Given the description of an element on the screen output the (x, y) to click on. 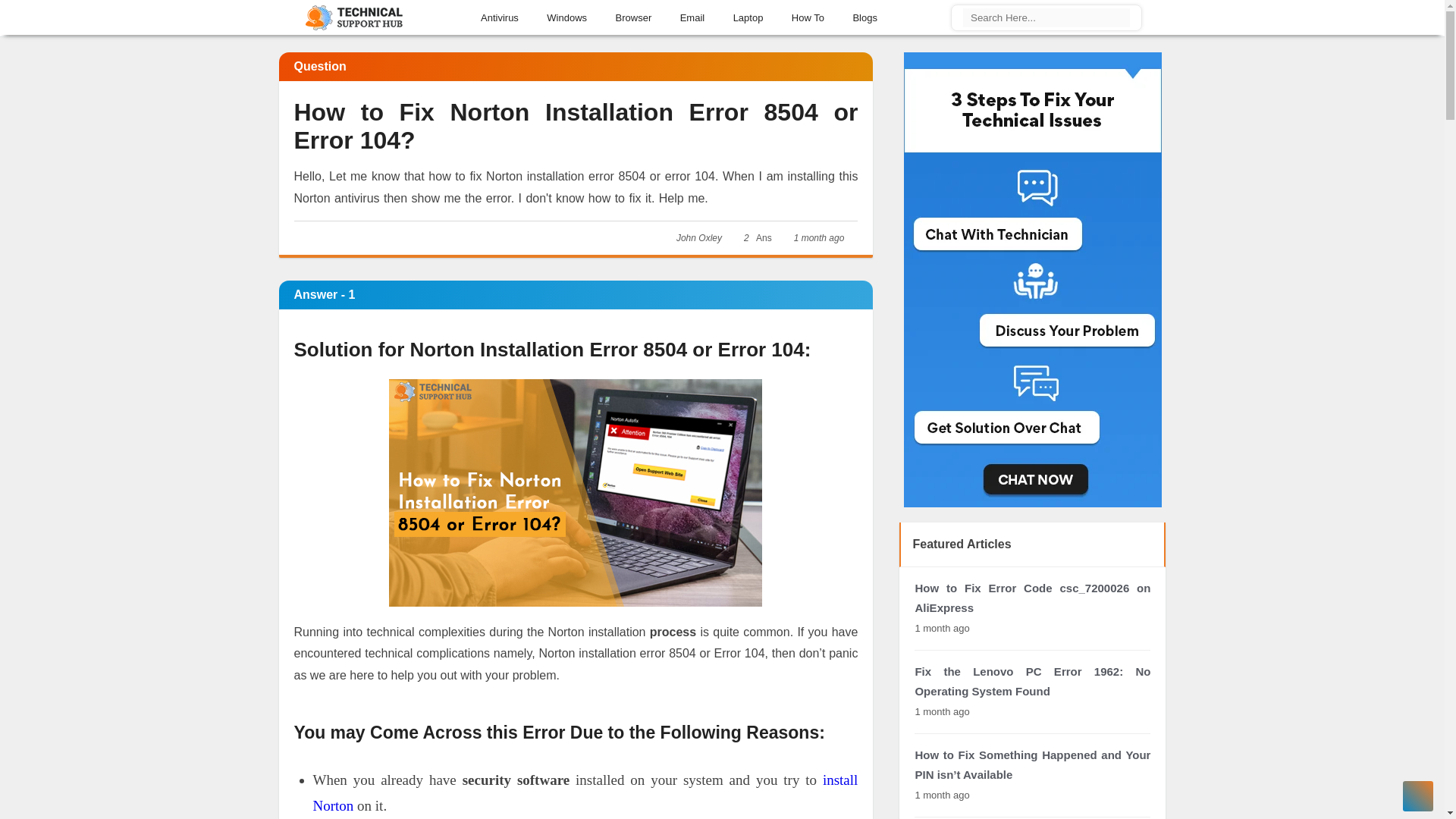
Antivirus (500, 15)
Browser (634, 15)
install Norton (585, 793)
How To (808, 15)
Laptop (749, 15)
Windows (567, 15)
Laptop (749, 15)
Antivirus (500, 15)
How To (808, 15)
Windows (567, 15)
